Given the description of an element on the screen output the (x, y) to click on. 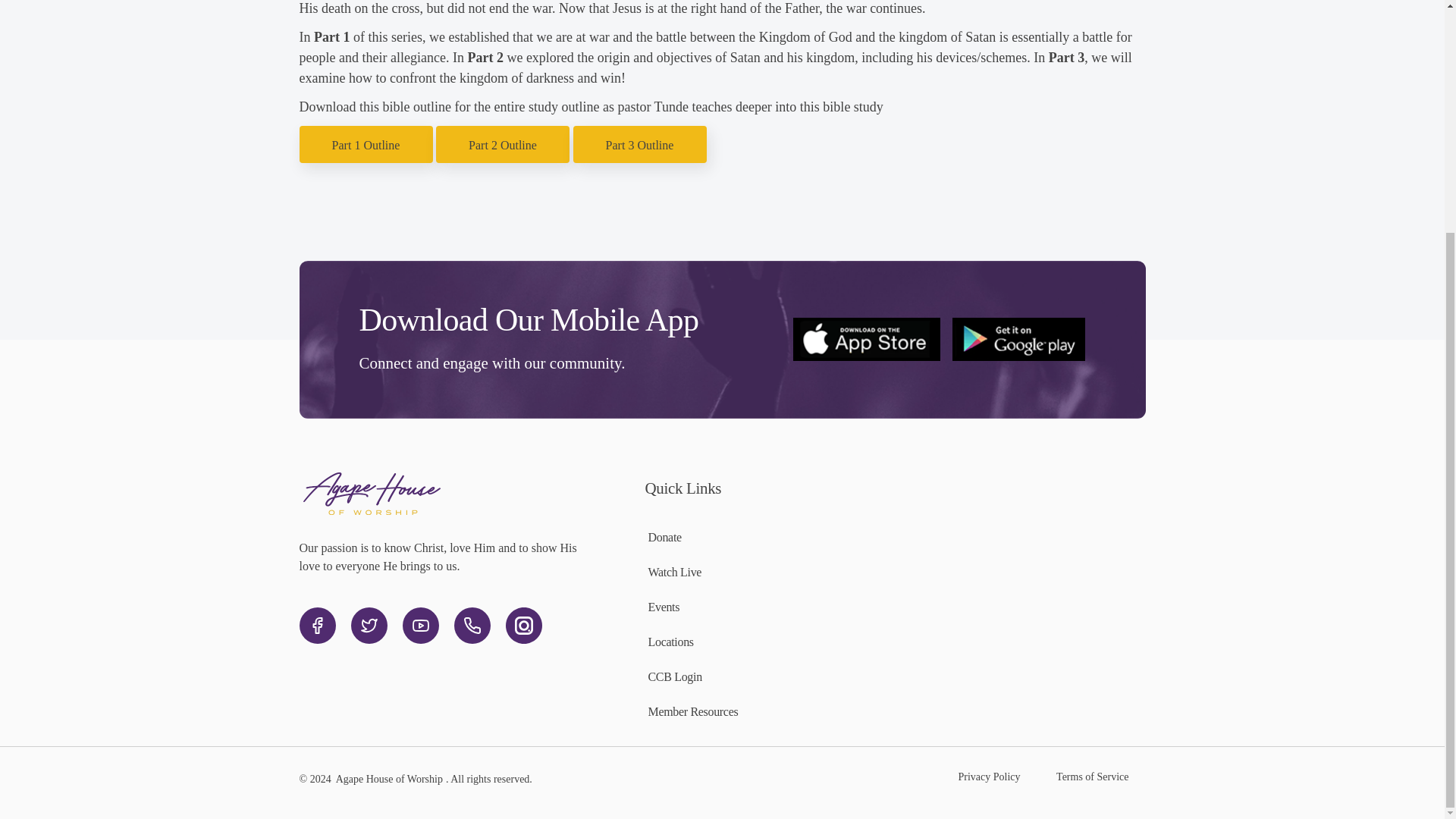
Locations (670, 641)
Part 3 Outline (639, 144)
CCB Login (674, 676)
Part 1 Outline (365, 144)
Watch Live (674, 571)
Member Resources (693, 711)
Donate (664, 537)
Part 2 Outline (502, 144)
Events (663, 606)
